Given the description of an element on the screen output the (x, y) to click on. 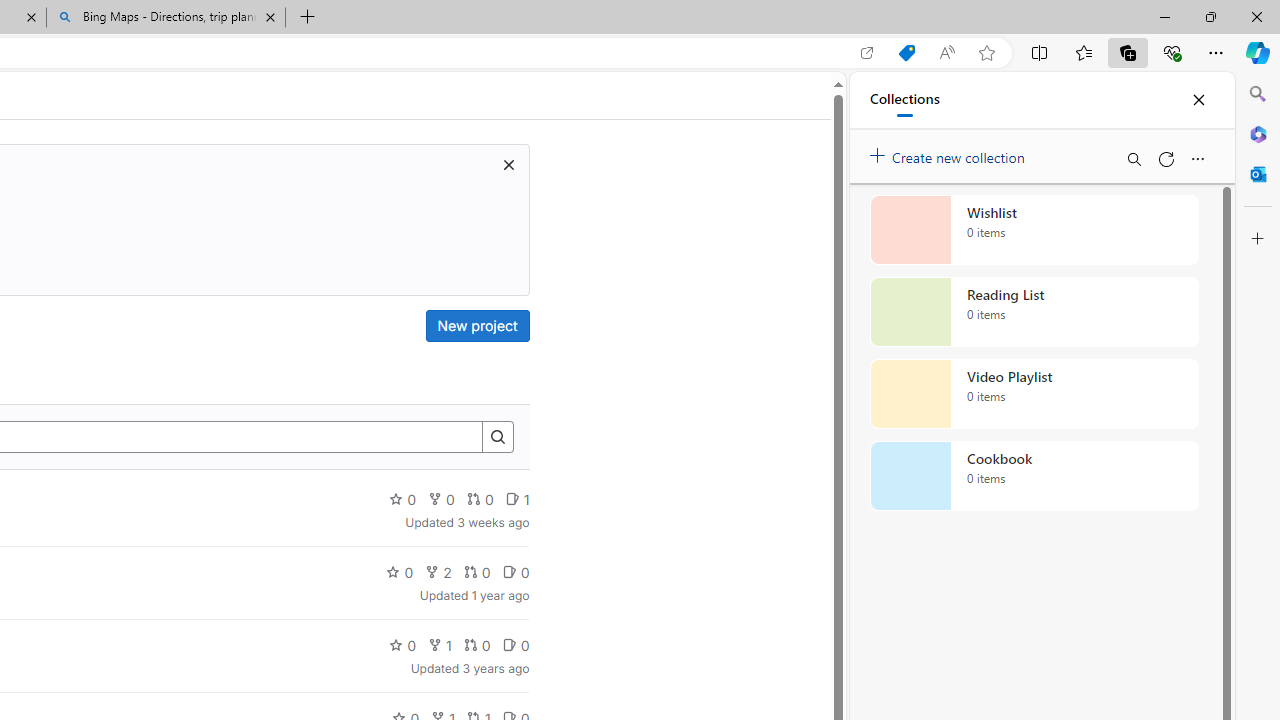
Dismiss trial promotion (508, 164)
2 (437, 571)
You have the best price! (906, 53)
